Given the description of an element on the screen output the (x, y) to click on. 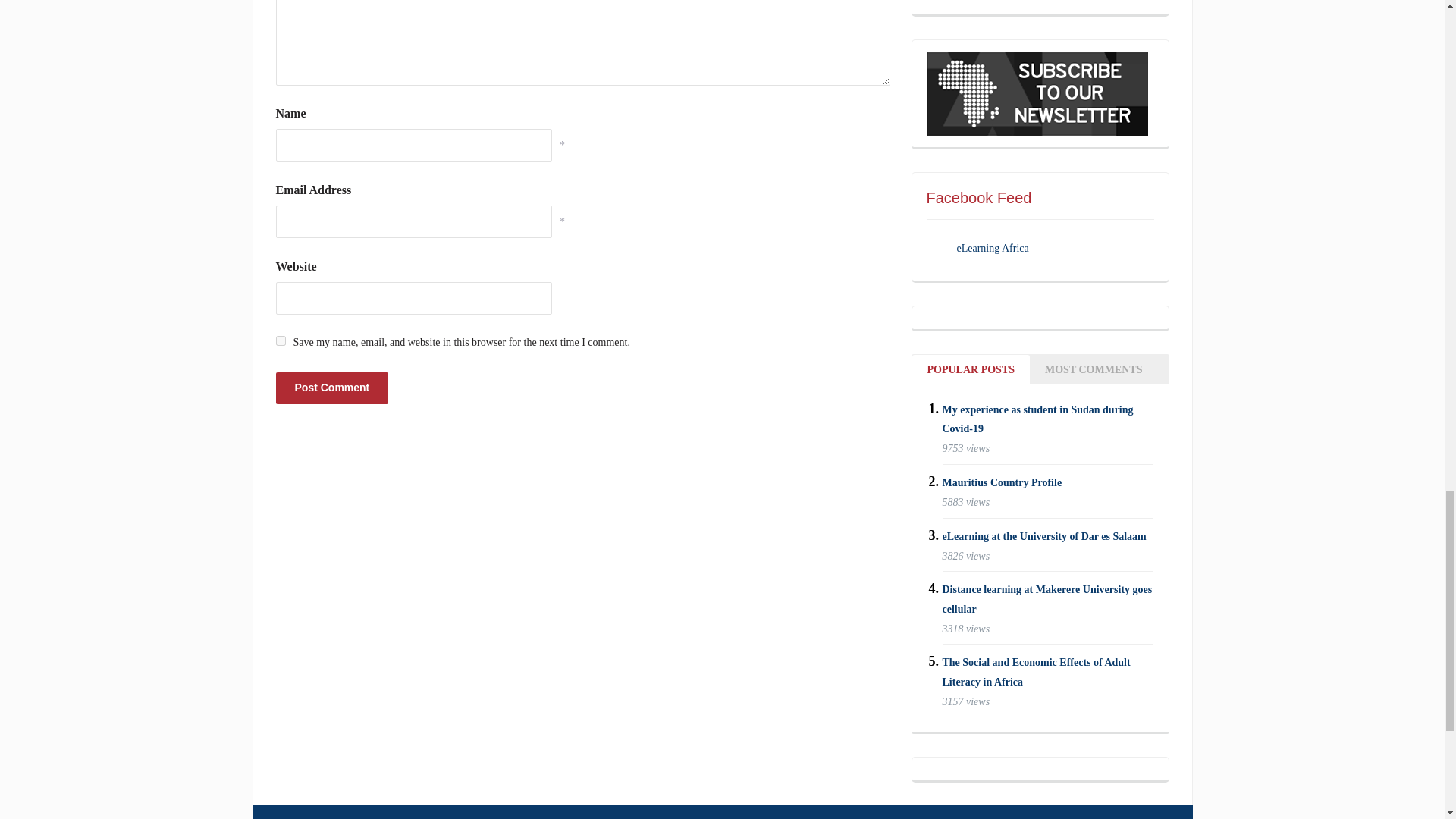
Post Comment (332, 387)
yes (280, 340)
Popular Posts (970, 369)
Post Comment (332, 387)
Permanent Link to Mauritius Country Profile (1001, 482)
Most Comments (1093, 369)
